Given the description of an element on the screen output the (x, y) to click on. 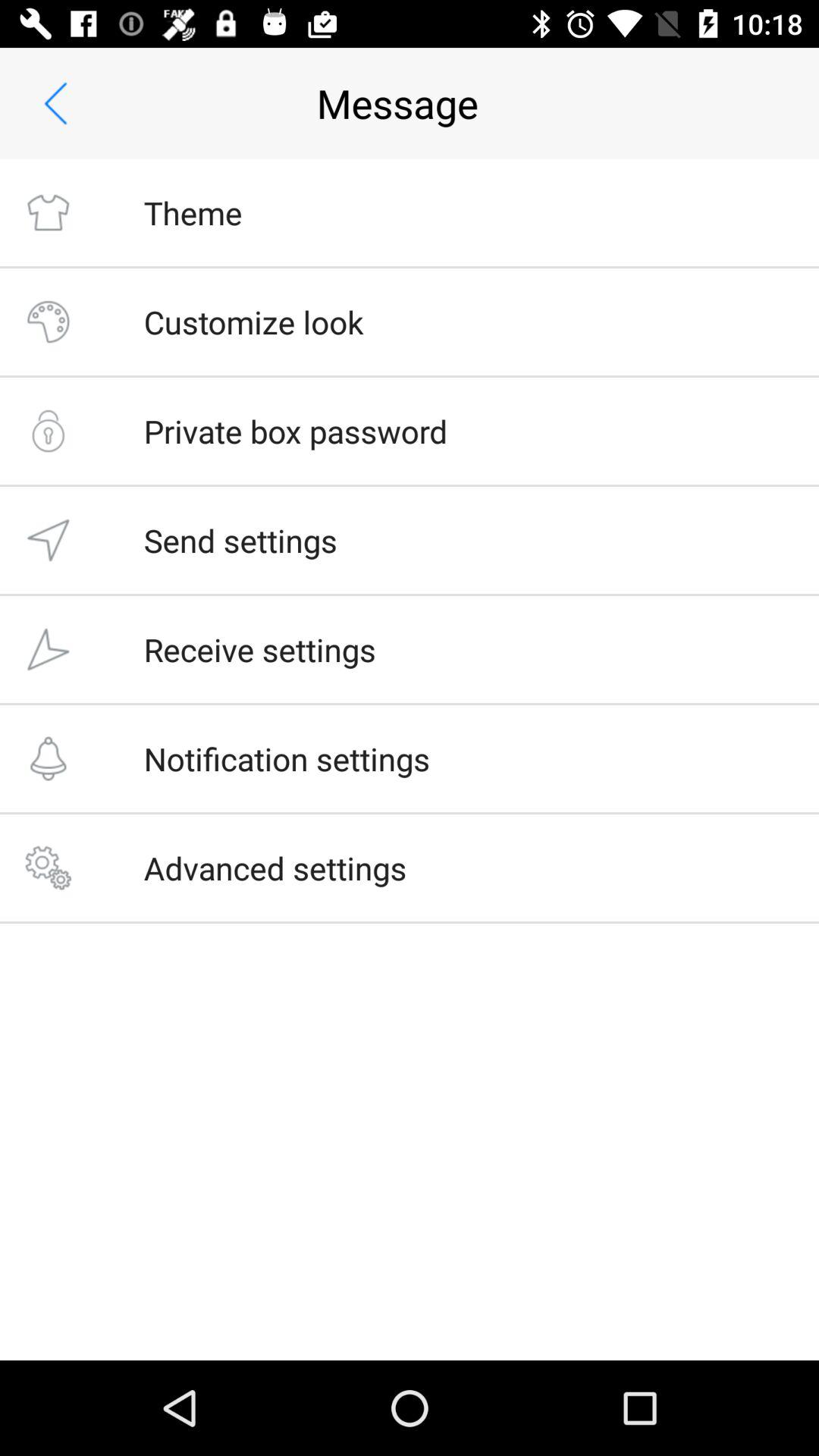
open icon below the customize look item (295, 430)
